Given the description of an element on the screen output the (x, y) to click on. 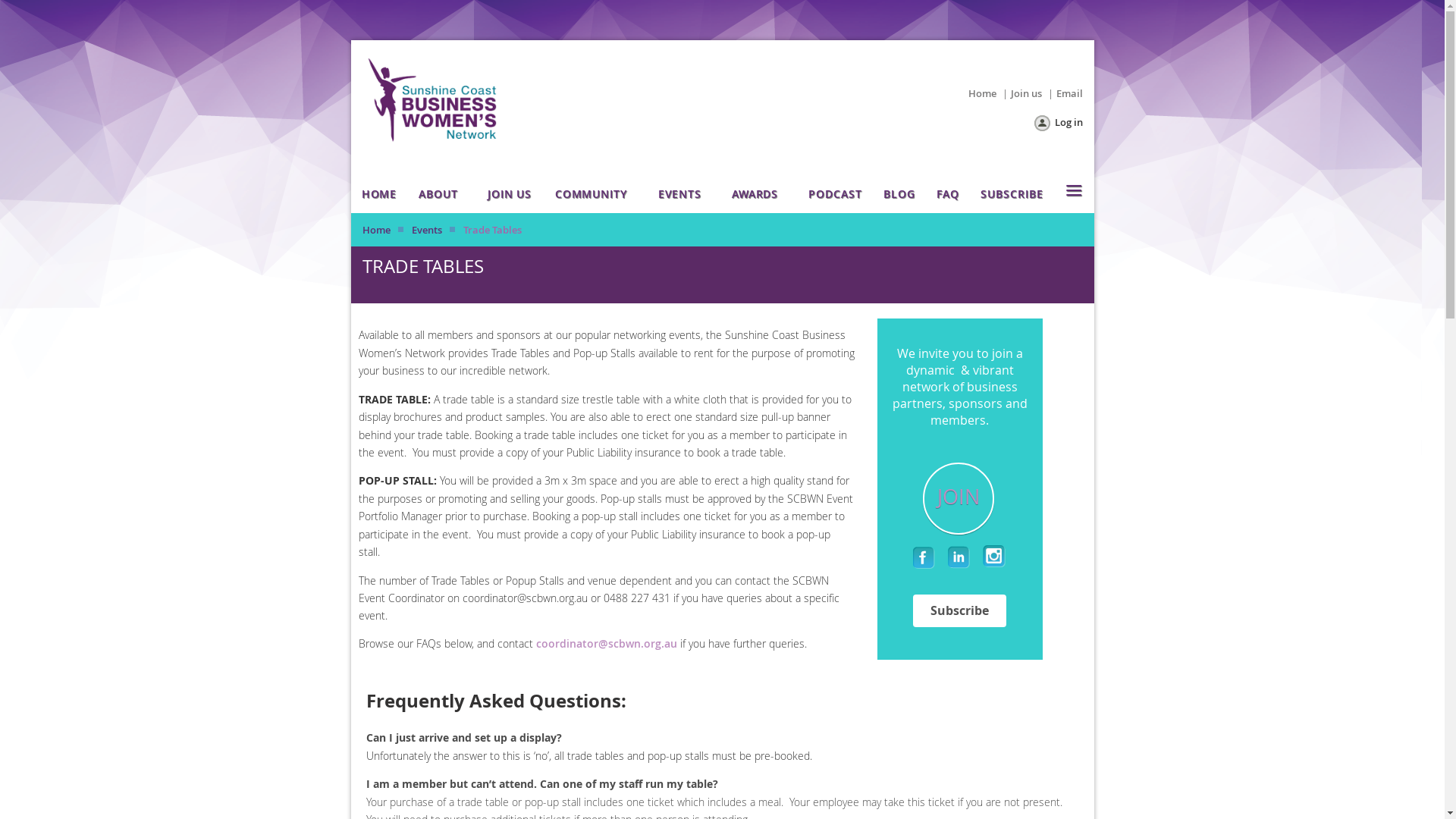
Subscribe Element type: text (959, 610)
FAQ Element type: text (947, 194)
HOME Element type: text (378, 194)
Home Element type: text (376, 229)
coordinator@scbwn.org.au Element type: text (605, 643)
AWARDS Element type: text (758, 194)
ABOUT Element type: text (441, 194)
Home Element type: text (981, 93)
Email Element type: text (1068, 93)
Instagram Element type: hover (994, 556)
Events Element type: text (426, 229)
SUBSCRIBE Element type: text (1011, 194)
Facebook Element type: hover (925, 556)
LinkedIn Element type: hover (959, 556)
Join us Element type: text (1025, 93)
JOIN Element type: text (958, 498)
Log in Element type: text (1056, 124)
JOIN US Element type: text (509, 194)
BLOG Element type: text (898, 194)
EVENTS Element type: text (683, 194)
COMMUNITY Element type: text (594, 194)
PODCAST Element type: text (834, 194)
